Given the description of an element on the screen output the (x, y) to click on. 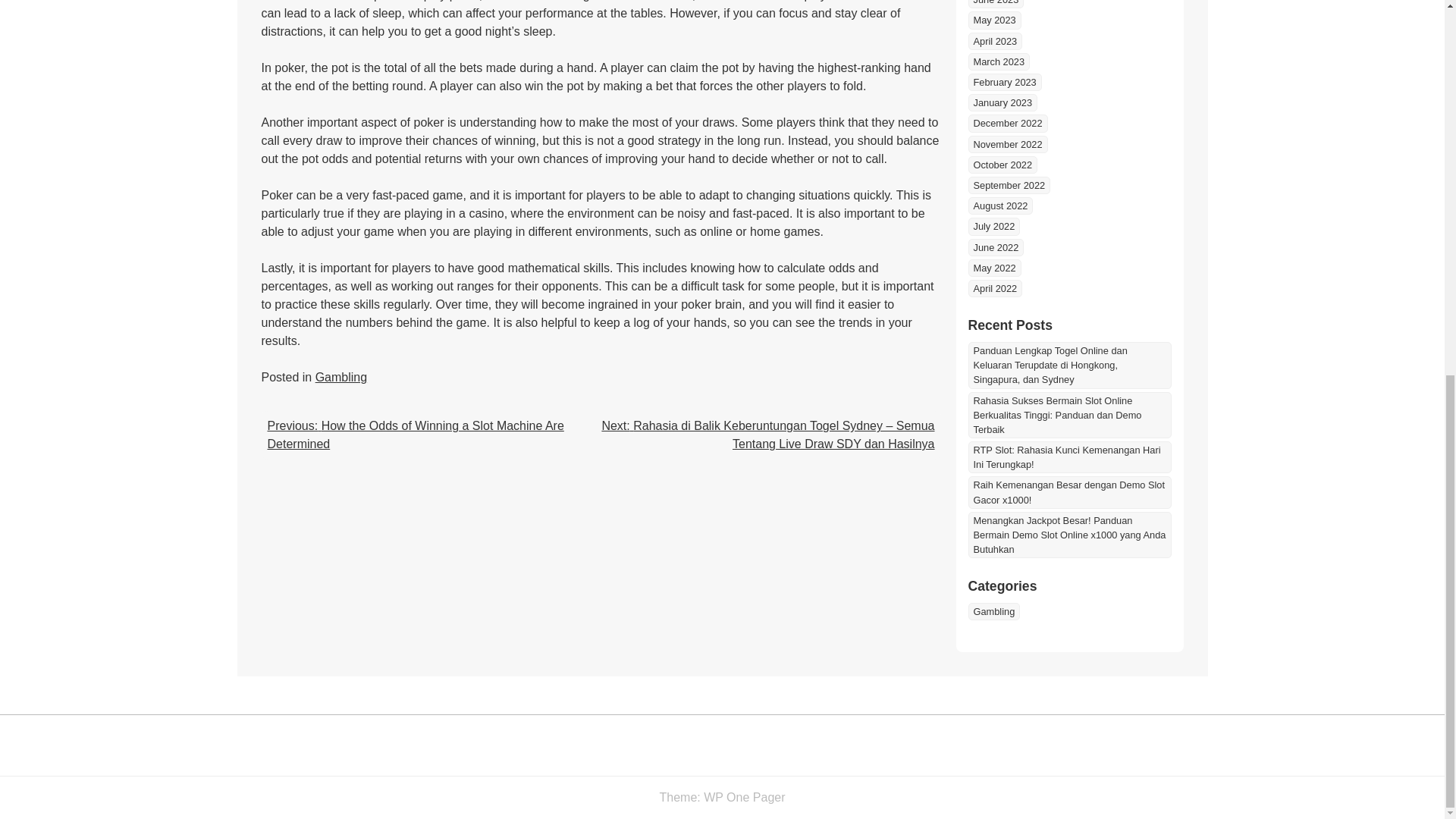
February 2023 (1004, 81)
December 2022 (1007, 122)
September 2022 (1008, 185)
June 2023 (995, 4)
January 2023 (1002, 102)
Gambling (340, 377)
July 2022 (994, 226)
RTP Slot: Rahasia Kunci Kemenangan Hari Ini Terungkap! (1069, 457)
April 2022 (995, 288)
Raih Kemenangan Besar dengan Demo Slot Gacor x1000! (1069, 491)
April 2023 (995, 40)
June 2022 (995, 247)
May 2022 (994, 267)
